Given the description of an element on the screen output the (x, y) to click on. 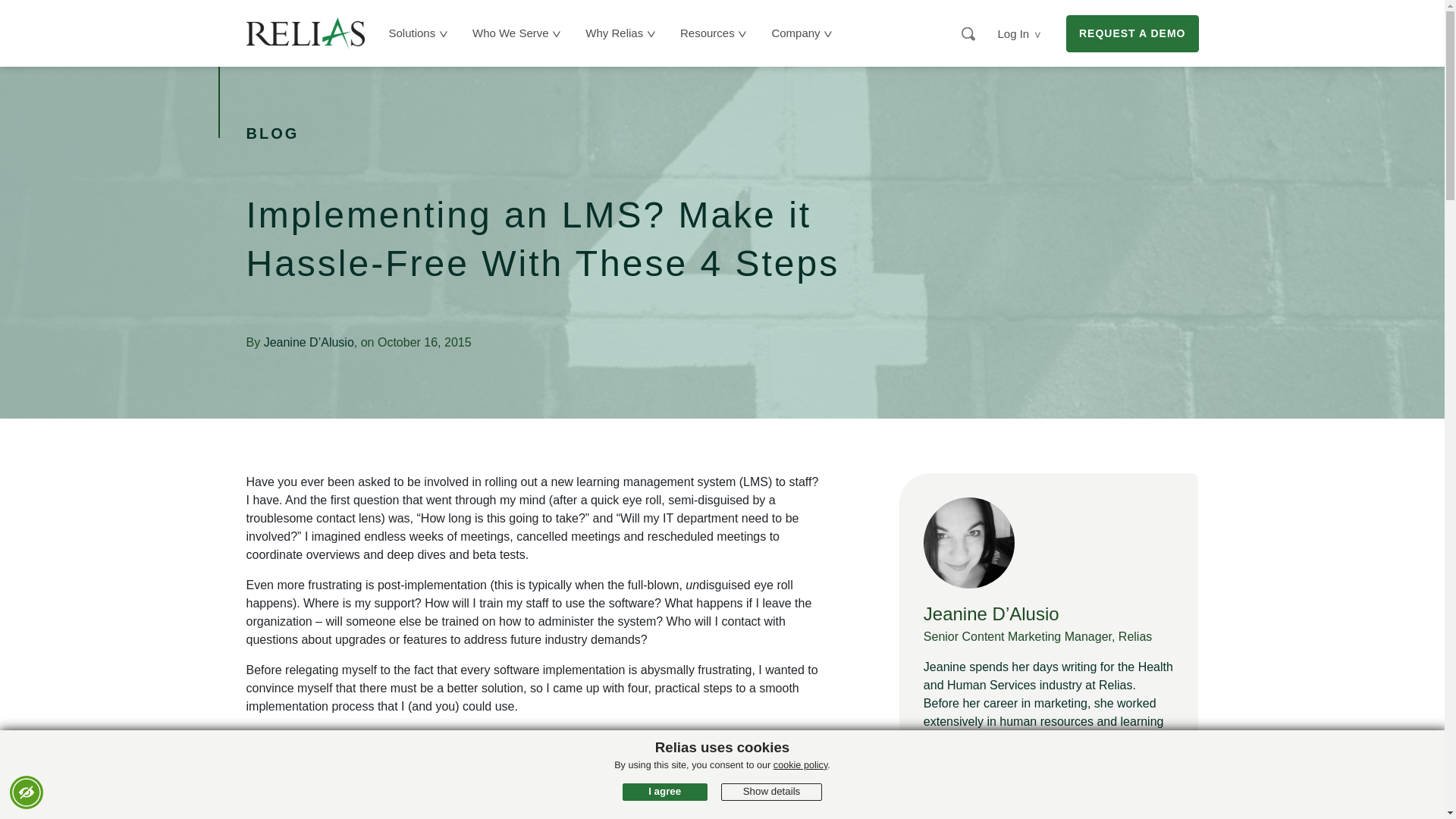
Show details (771, 791)
cookie policy (800, 765)
I agree (665, 791)
